Given the description of an element on the screen output the (x, y) to click on. 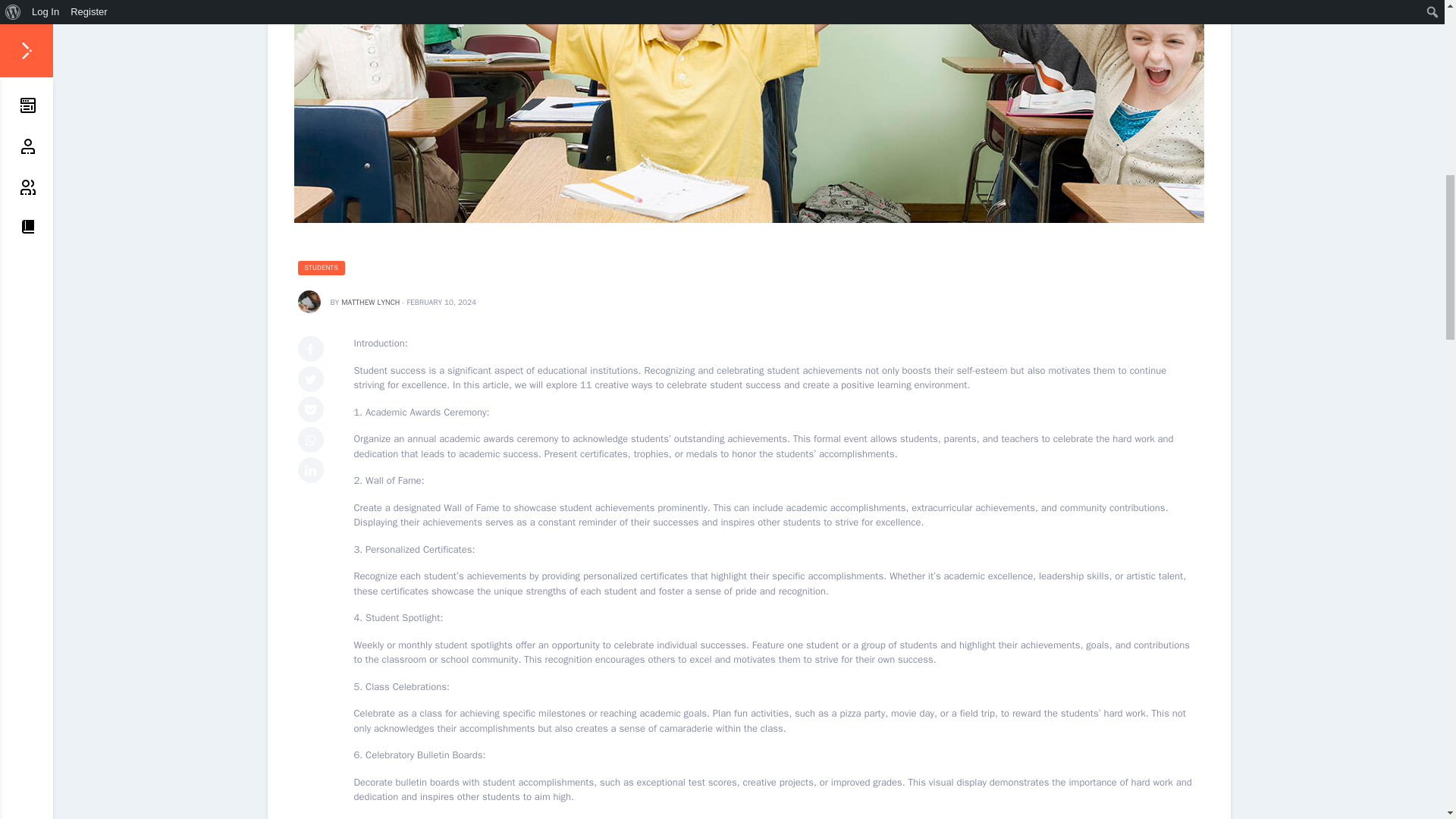
MATTHEW LYNCH (369, 301)
All posts from Students (321, 268)
STUDENTS (321, 268)
